Given the description of an element on the screen output the (x, y) to click on. 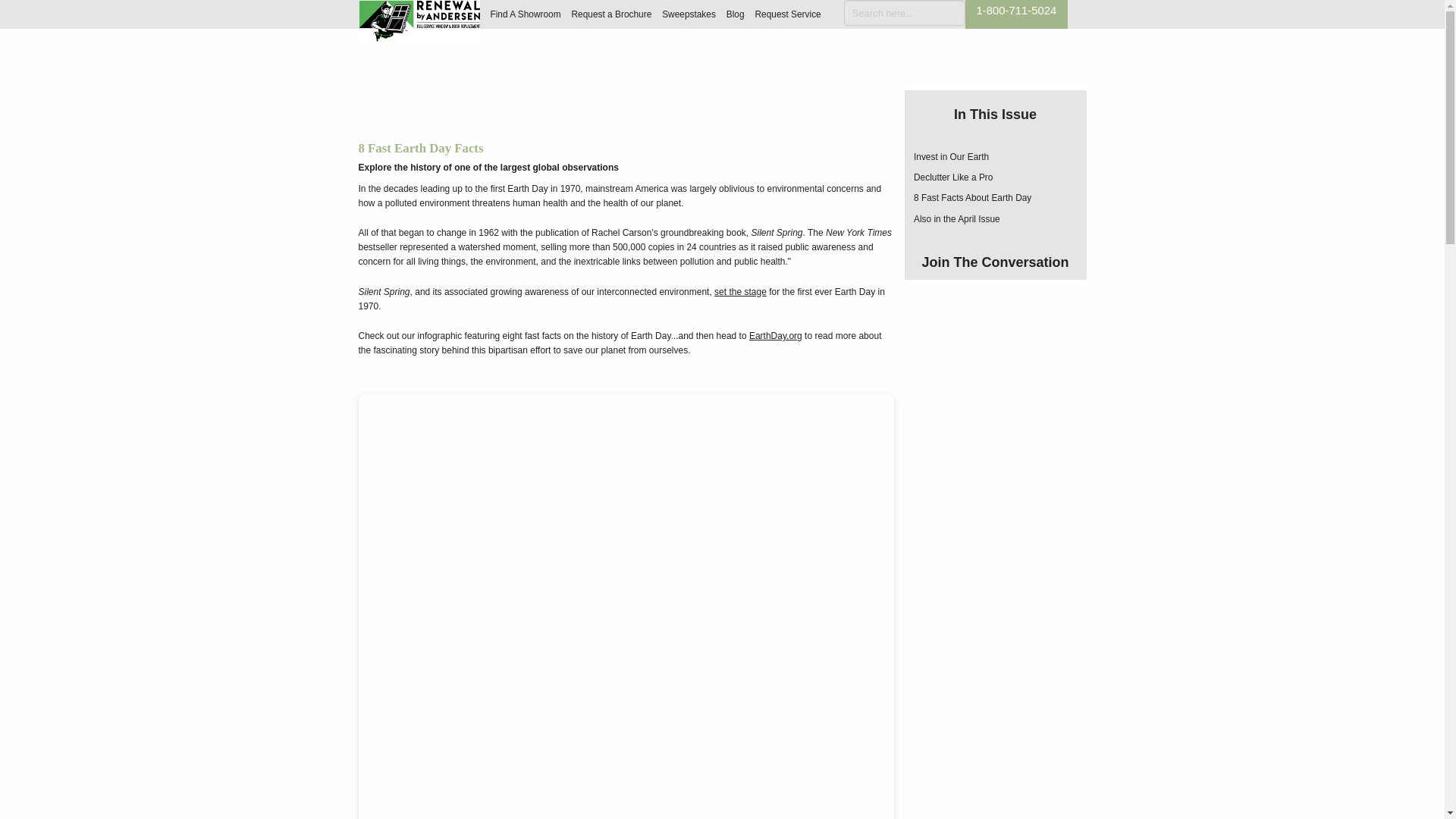
set the stage (740, 291)
Invest in Our Earth (951, 156)
8 Fast Earth Day Facts (972, 197)
Request Service (787, 14)
Declutter Like a Pro (953, 176)
1-800-711-5024 (1016, 10)
Find A Showroom (524, 14)
Also in the April Issue (957, 218)
Blog (735, 14)
Sweepstakes (689, 14)
